Given the description of an element on the screen output the (x, y) to click on. 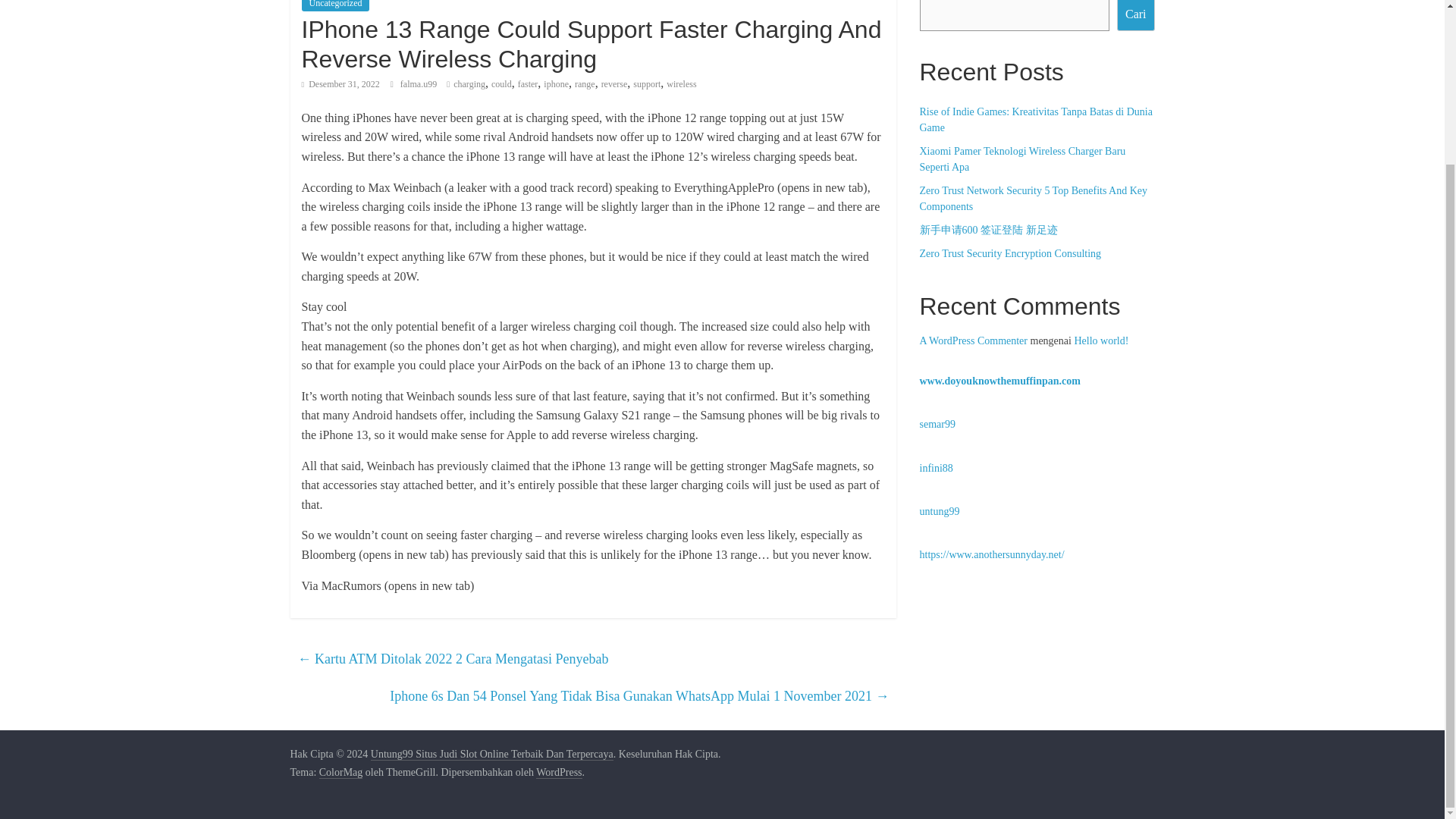
Rise of Indie Games: Kreativitas Tanpa Batas di Dunia Game (1034, 119)
range (585, 83)
WordPress (557, 772)
charging (468, 83)
faster (528, 83)
Desember 31, 2022 (340, 83)
Cari (1135, 15)
Uncategorized (335, 5)
WordPress (557, 772)
Untung99 Situs Judi Slot Online Terbaik Dan Terpercaya (491, 754)
